Given the description of an element on the screen output the (x, y) to click on. 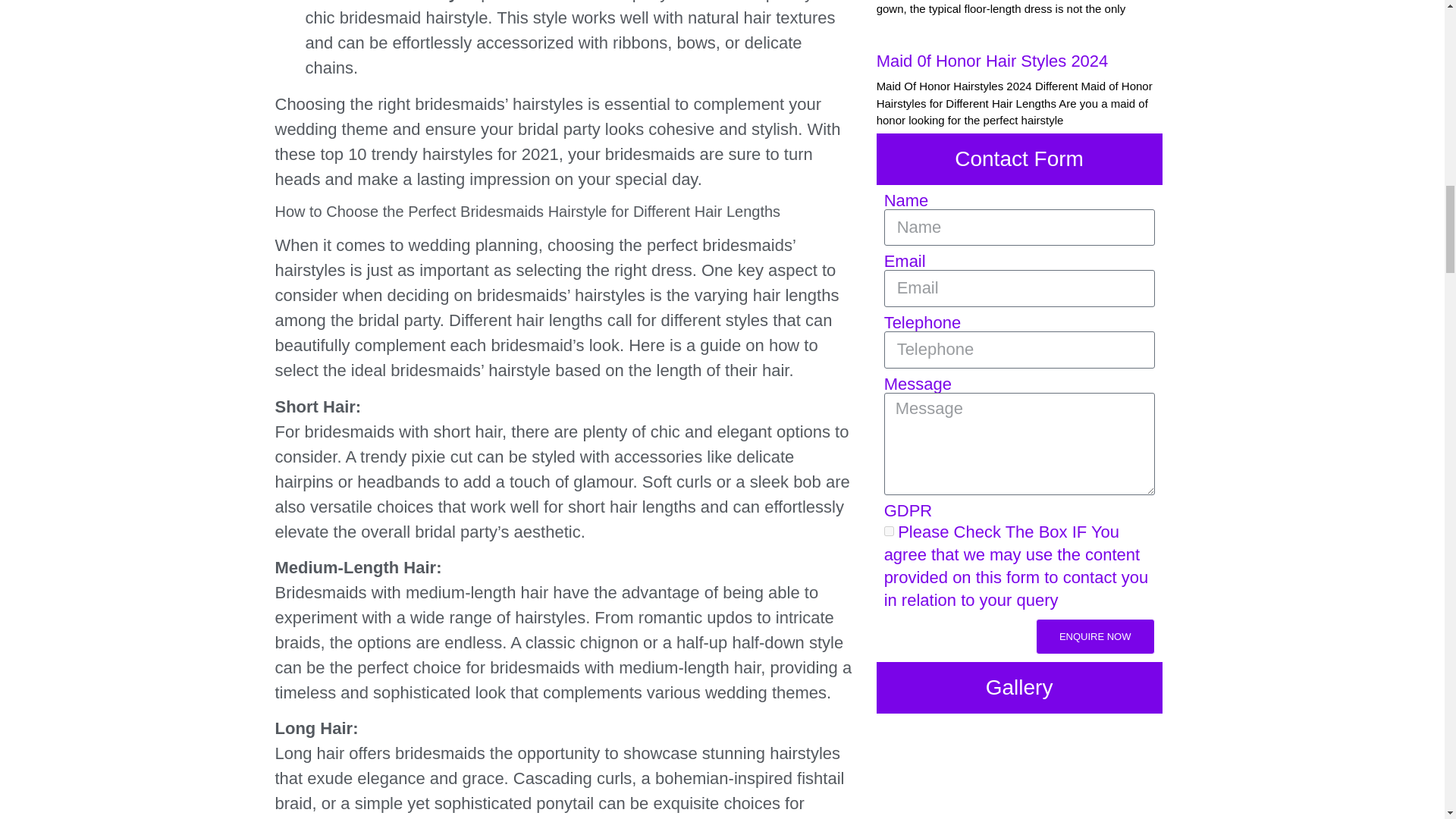
on (888, 531)
ENQUIRE NOW (1094, 636)
Maid 0f Honor Hair Styles 2024 (992, 60)
